Given the description of an element on the screen output the (x, y) to click on. 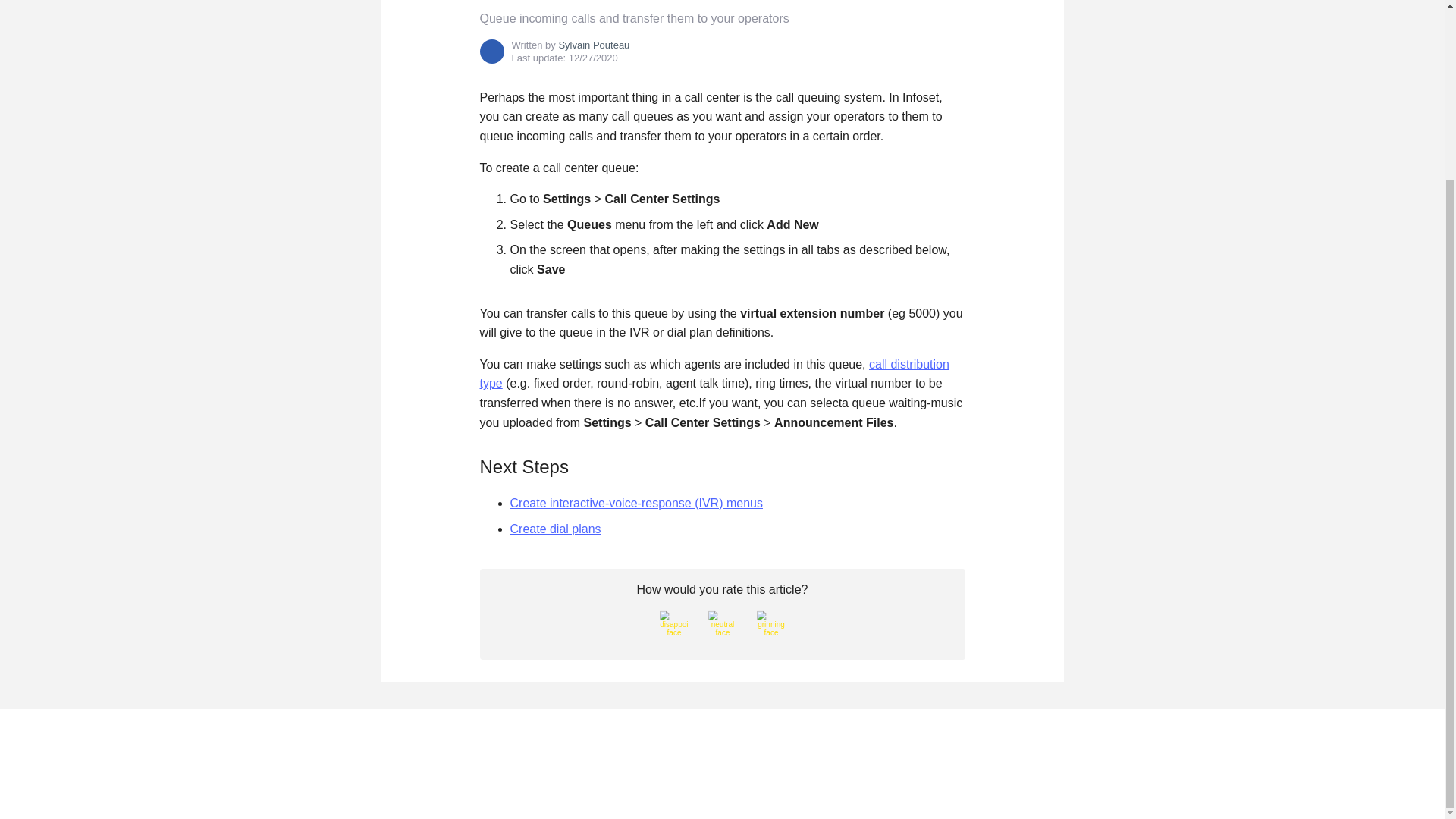
Create dial plans (554, 528)
call distribution type (714, 373)
